Given the description of an element on the screen output the (x, y) to click on. 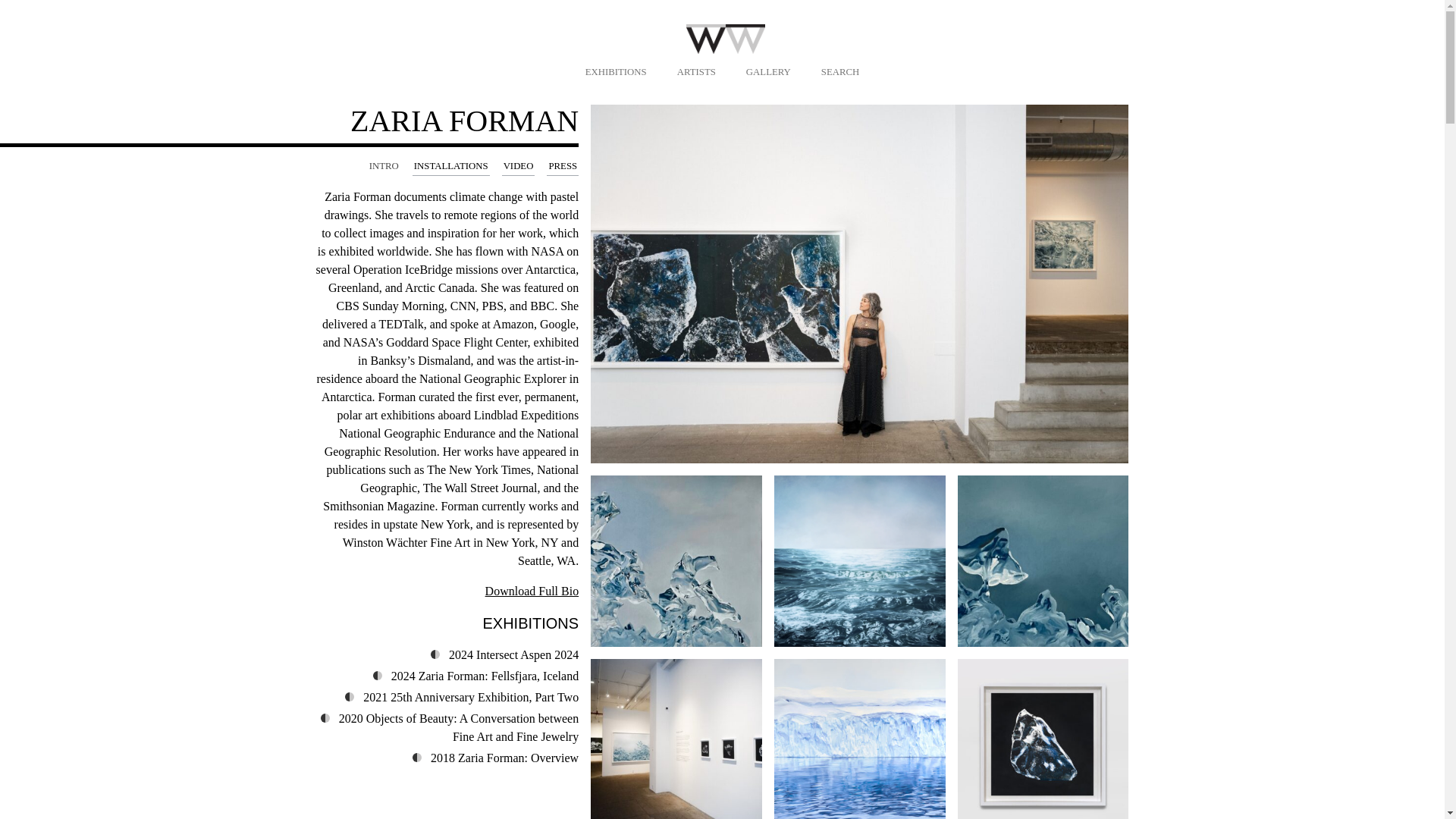
PRESS (562, 167)
SEARCH (840, 72)
EXHIBITIONS (615, 72)
INSTALLATIONS (450, 167)
Download Full Bio (531, 590)
2021 25th Anniversary Exhibition, Part Two (470, 697)
2024 Zaria Forman: Fellsfjara, Iceland (484, 675)
2024 Intersect Aspen 2024 (513, 654)
ARTISTS (696, 72)
2018 Zaria Forman: Overview (504, 757)
GALLERY (767, 72)
VIDEO (518, 167)
